Given the description of an element on the screen output the (x, y) to click on. 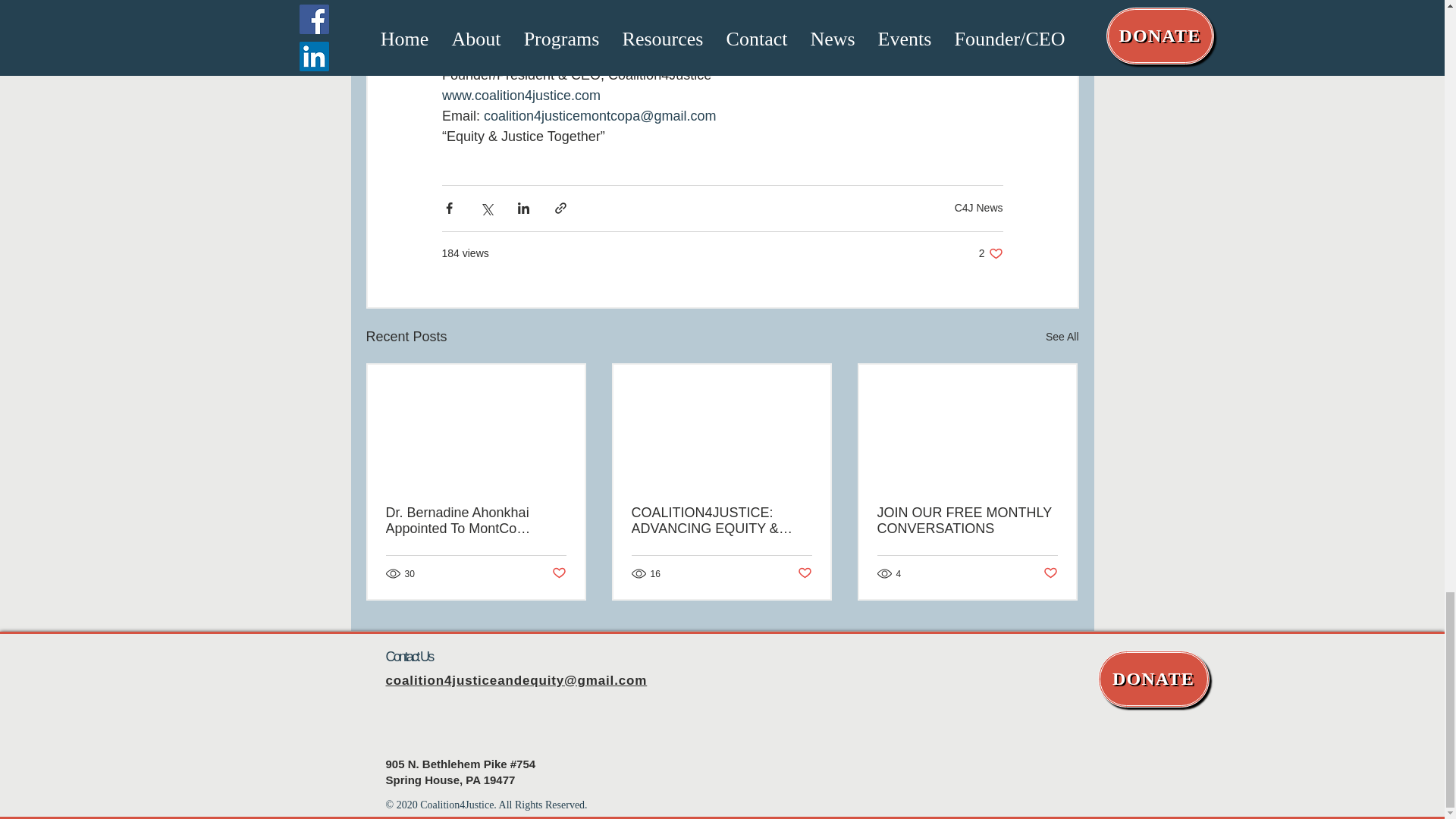
www.coalition4justice.com (520, 95)
C4J News (979, 207)
See All (1061, 336)
